Given the description of an element on the screen output the (x, y) to click on. 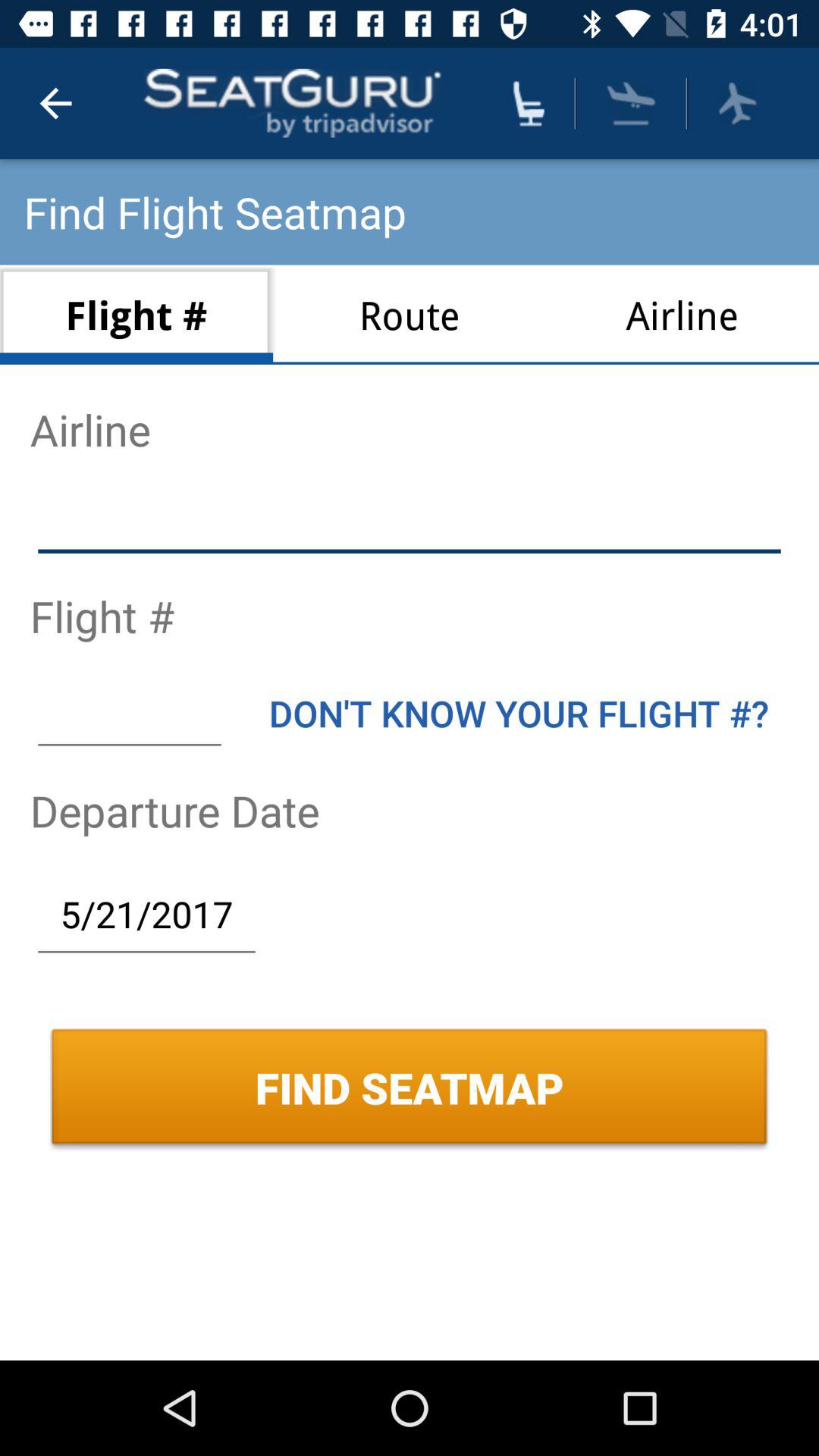
enter flight number (129, 712)
